Given the description of an element on the screen output the (x, y) to click on. 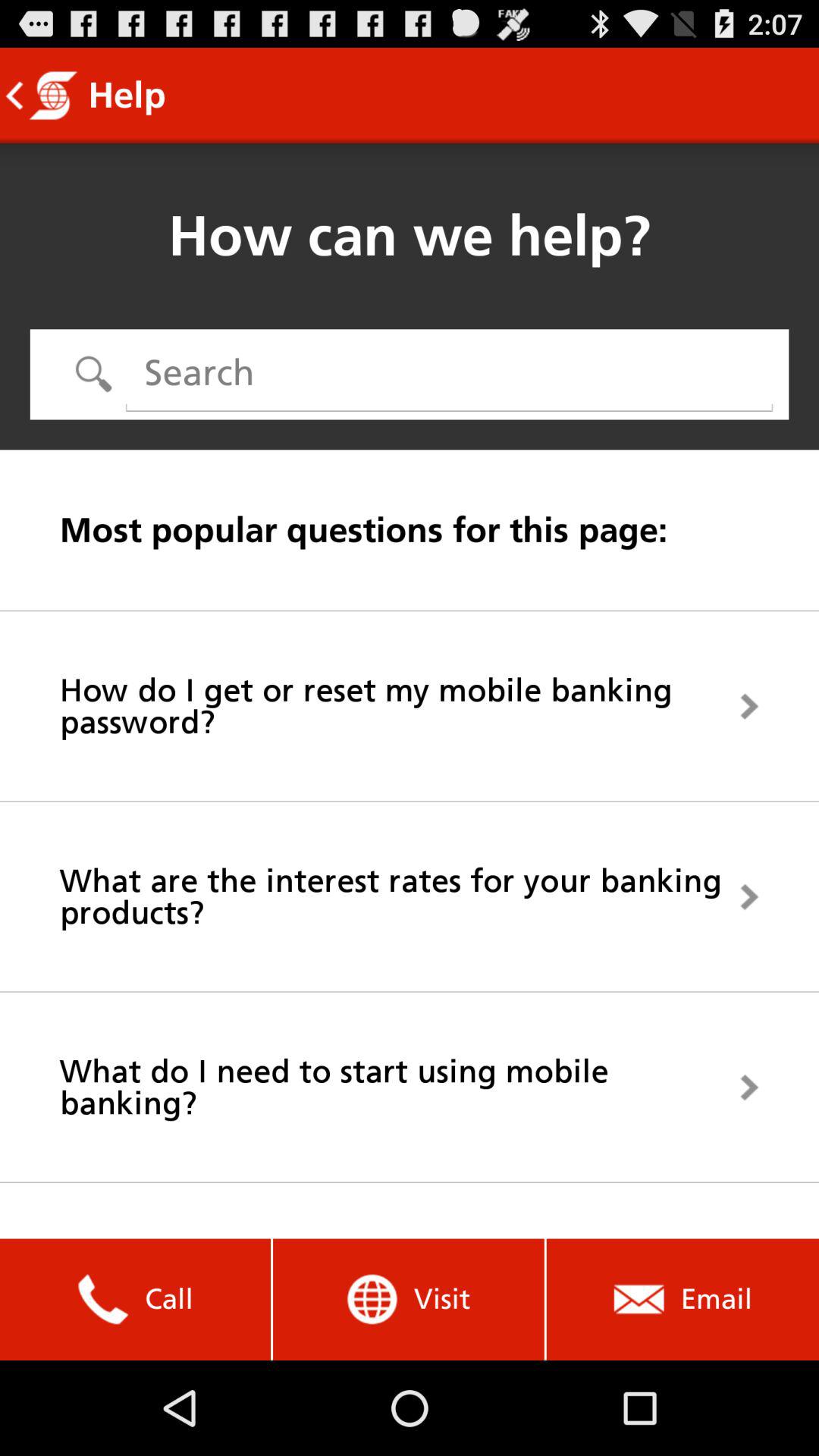
swipe until what are the app (409, 896)
